Given the description of an element on the screen output the (x, y) to click on. 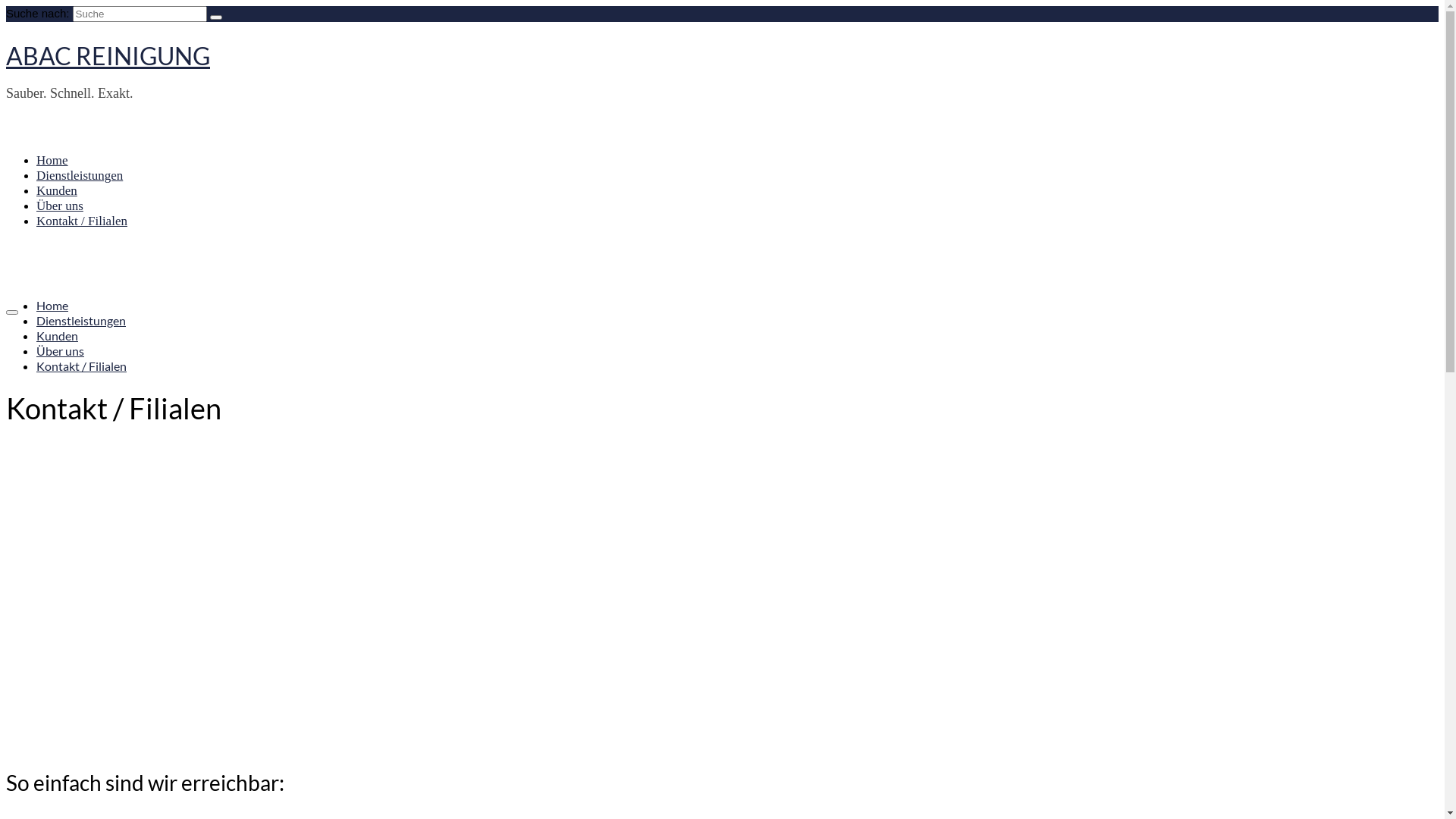
Dienstleistungen Element type: text (79, 175)
Dienstleistungen Element type: text (80, 320)
Home Element type: text (52, 305)
Kunden Element type: text (56, 190)
Kontakt / Filialen Element type: text (81, 220)
Kontakt / Filialen Element type: text (81, 365)
Kunden Element type: text (57, 335)
Home Element type: text (52, 160)
ABAC REINIGUNG Element type: text (108, 55)
